Given the description of an element on the screen output the (x, y) to click on. 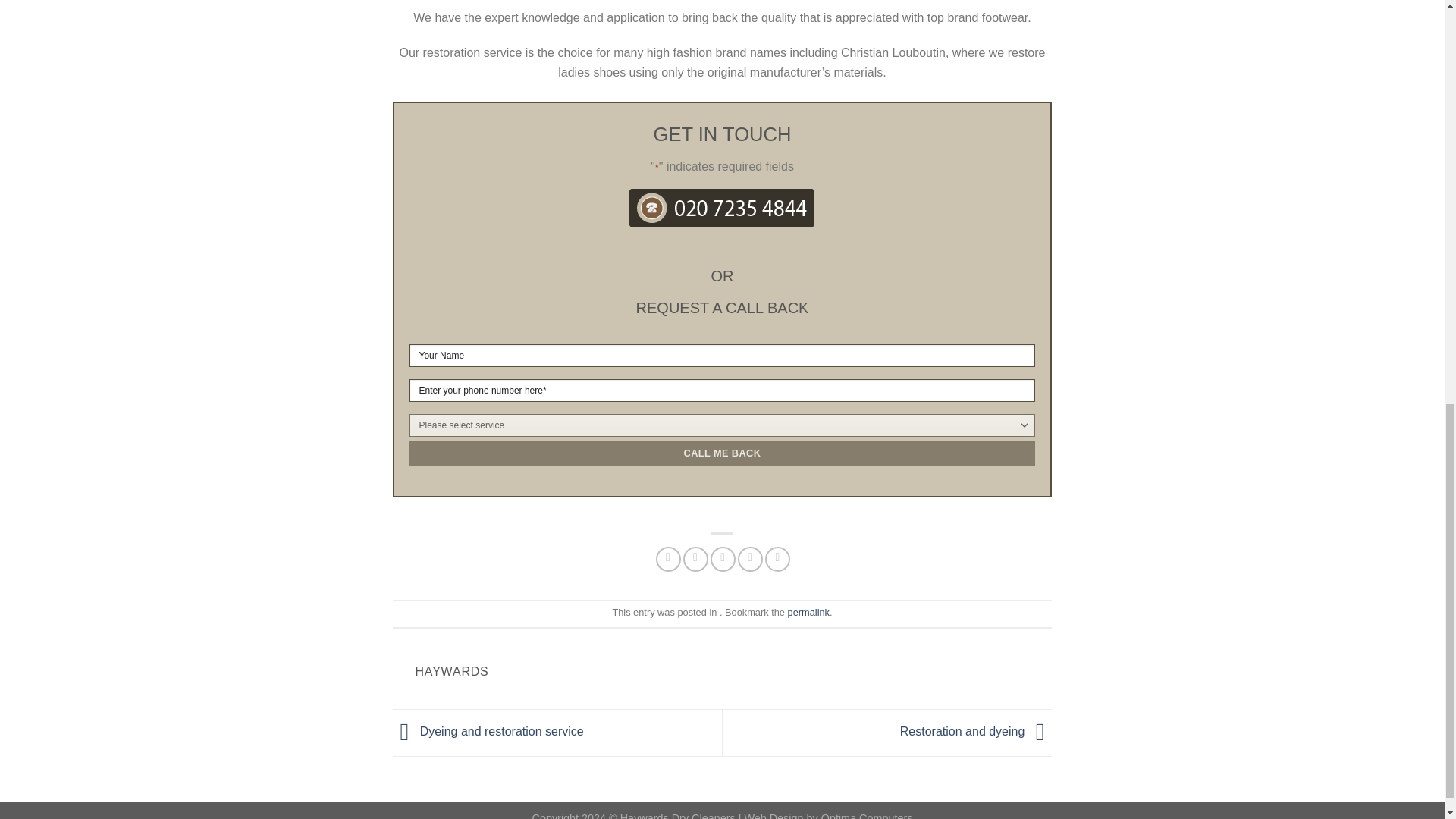
Pin on Pinterest (750, 559)
permalink (808, 612)
Optima Computers (866, 815)
Dyeing and restoration service (488, 730)
Share on LinkedIn (777, 559)
Call me back (722, 453)
Permalink to Shoe repair service (808, 612)
Restoration and dyeing (975, 730)
Email to a Friend (722, 559)
Share on Twitter (694, 559)
